Given the description of an element on the screen output the (x, y) to click on. 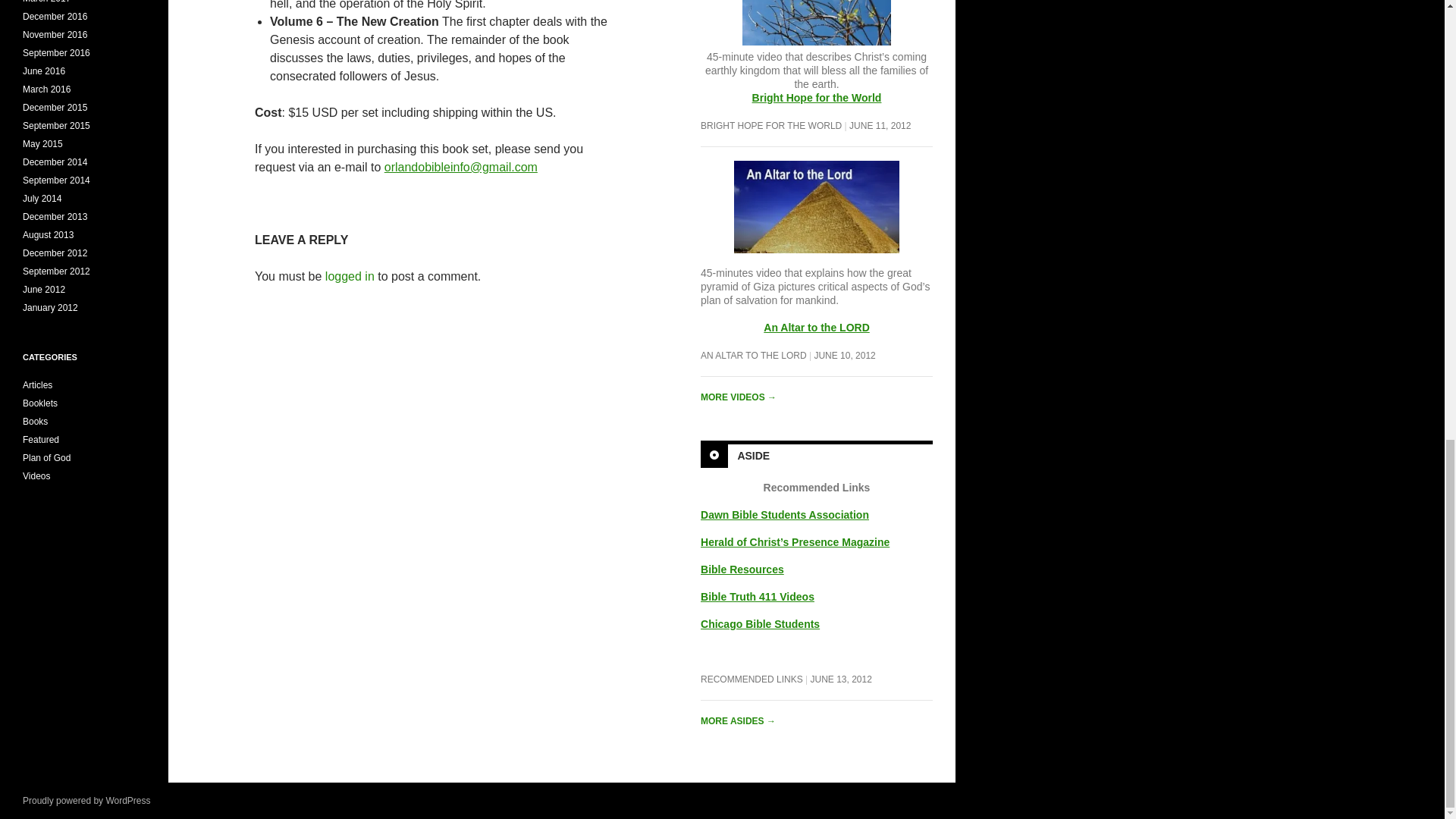
Bright Hope for the World (817, 97)
Bright Hope for the World (816, 31)
